Given the description of an element on the screen output the (x, y) to click on. 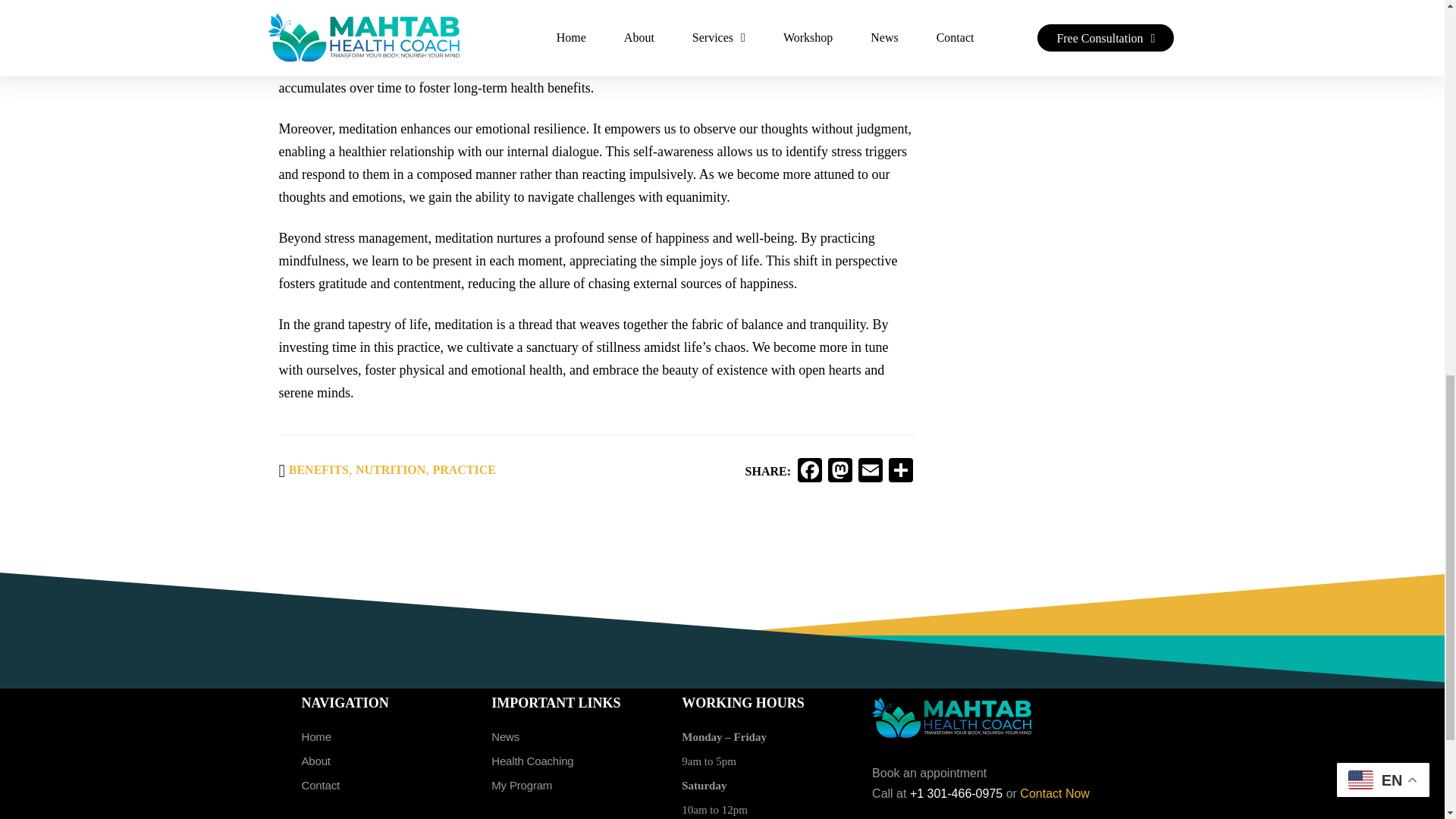
Mastodon (840, 471)
Email (870, 471)
Facebook (809, 471)
